Given the description of an element on the screen output the (x, y) to click on. 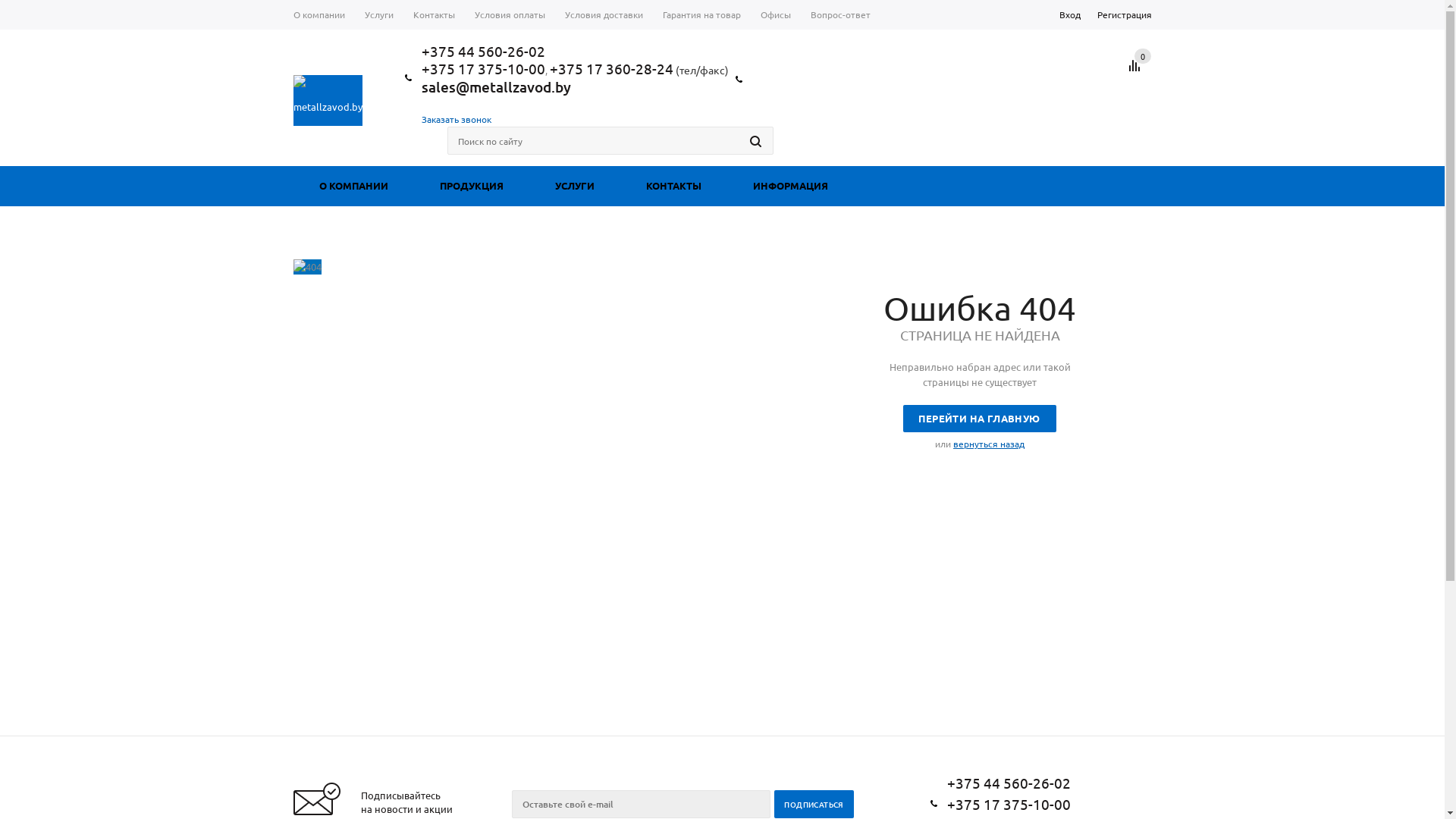
+375 17 375-10-00 Element type: text (483, 68)
metallzavod.by Element type: hover (326, 100)
0 Element type: text (1142, 55)
+375 44 560-26-02 Element type: text (1008, 782)
sales@metallzavod.by Element type: text (496, 86)
+375 44 560-26-02 Element type: text (483, 50)
+375 17 360-28-24 Element type: text (610, 68)
+375 17 375-10-00 Element type: text (1008, 803)
:-( Element type: hover (306, 266)
